Given the description of an element on the screen output the (x, y) to click on. 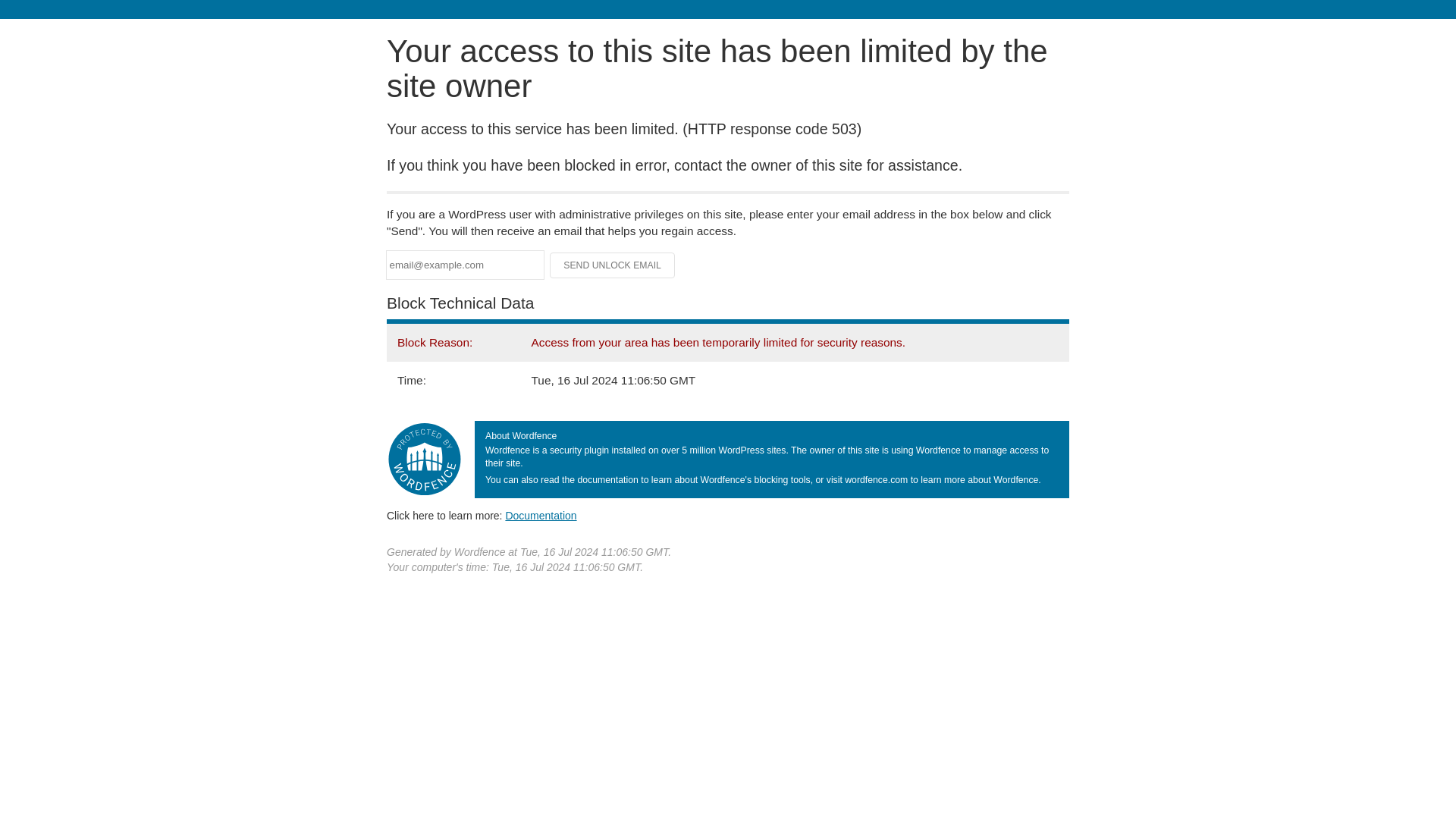
Send Unlock Email (612, 265)
Send Unlock Email (612, 265)
Documentation (540, 515)
